Given the description of an element on the screen output the (x, y) to click on. 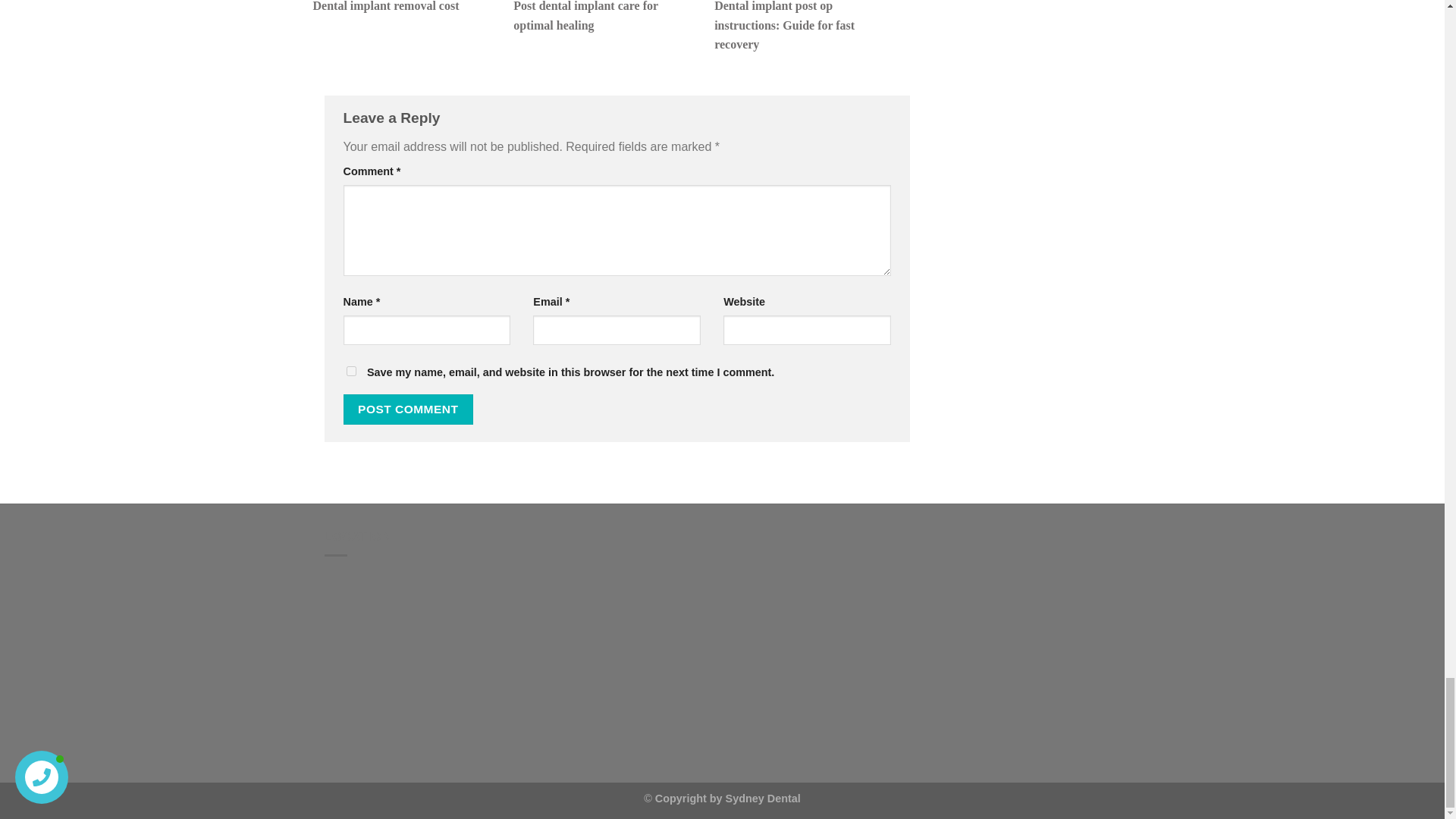
Post Comment (407, 408)
Dental implant post op instructions: Guide for fast recovery (806, 27)
yes (350, 370)
Post dental implant care for optimal healing (605, 17)
Dental implant removal cost (405, 7)
Post Comment (407, 408)
